Given the description of an element on the screen output the (x, y) to click on. 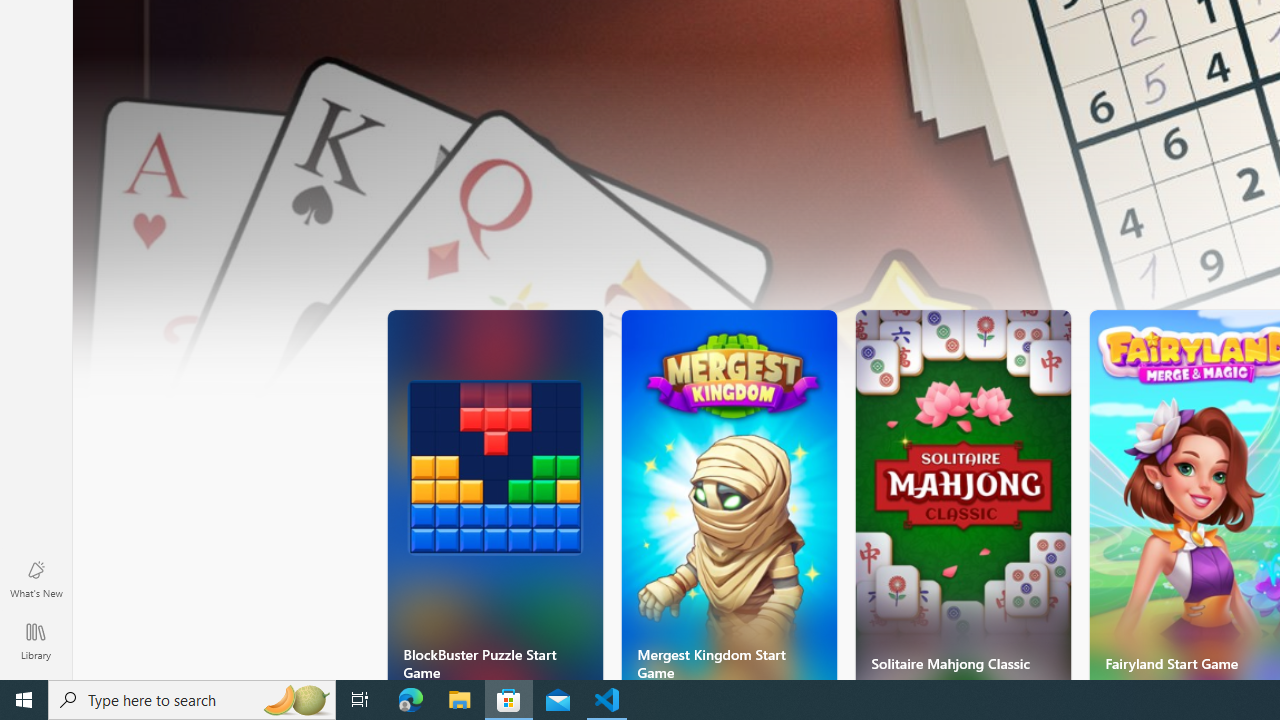
Library (35, 640)
What's New (35, 578)
